Given the description of an element on the screen output the (x, y) to click on. 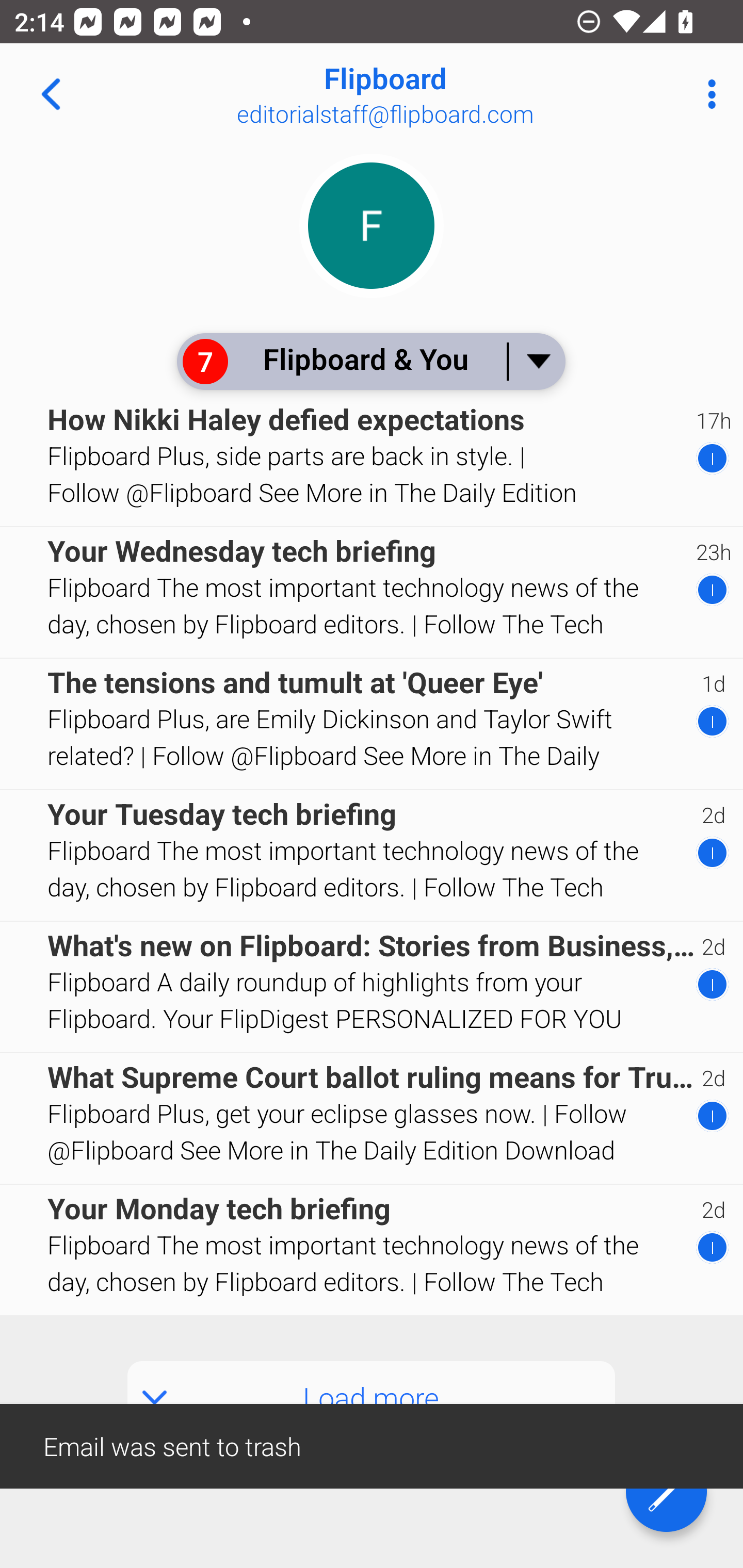
Navigate up (50, 93)
Flipboard editorialstaff@flipboard.com (436, 93)
More Options (706, 93)
7 Flipboard & You (370, 361)
Email was sent to trash (371, 1445)
